Given the description of an element on the screen output the (x, y) to click on. 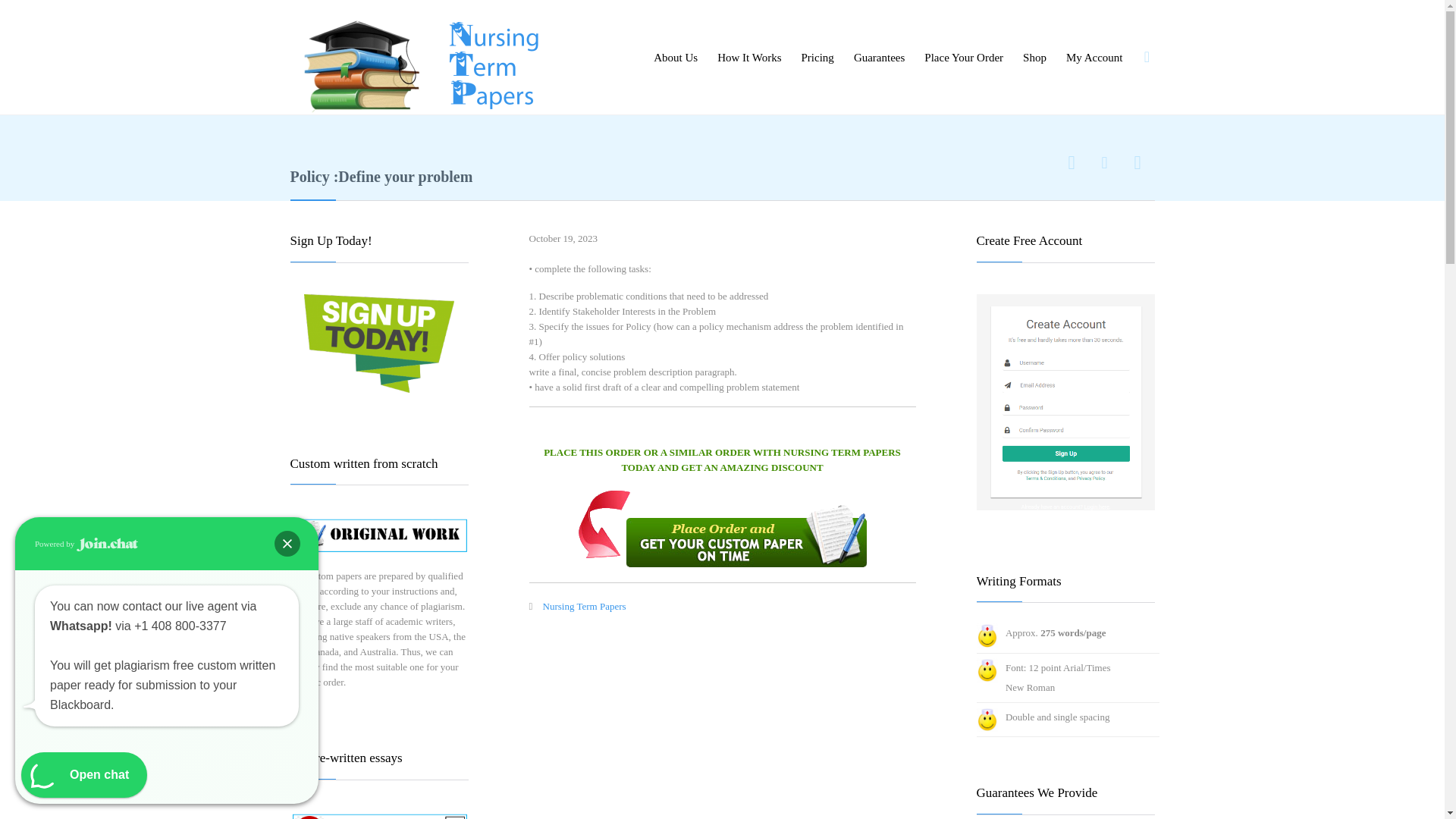
My Account (1094, 58)
Nursing Term Papers (419, 57)
Shop (1034, 58)
How It Works (748, 58)
Place Your Order (963, 58)
Close (287, 543)
Guarantees (879, 58)
About Us (675, 58)
Pricing (817, 58)
